Given the description of an element on the screen output the (x, y) to click on. 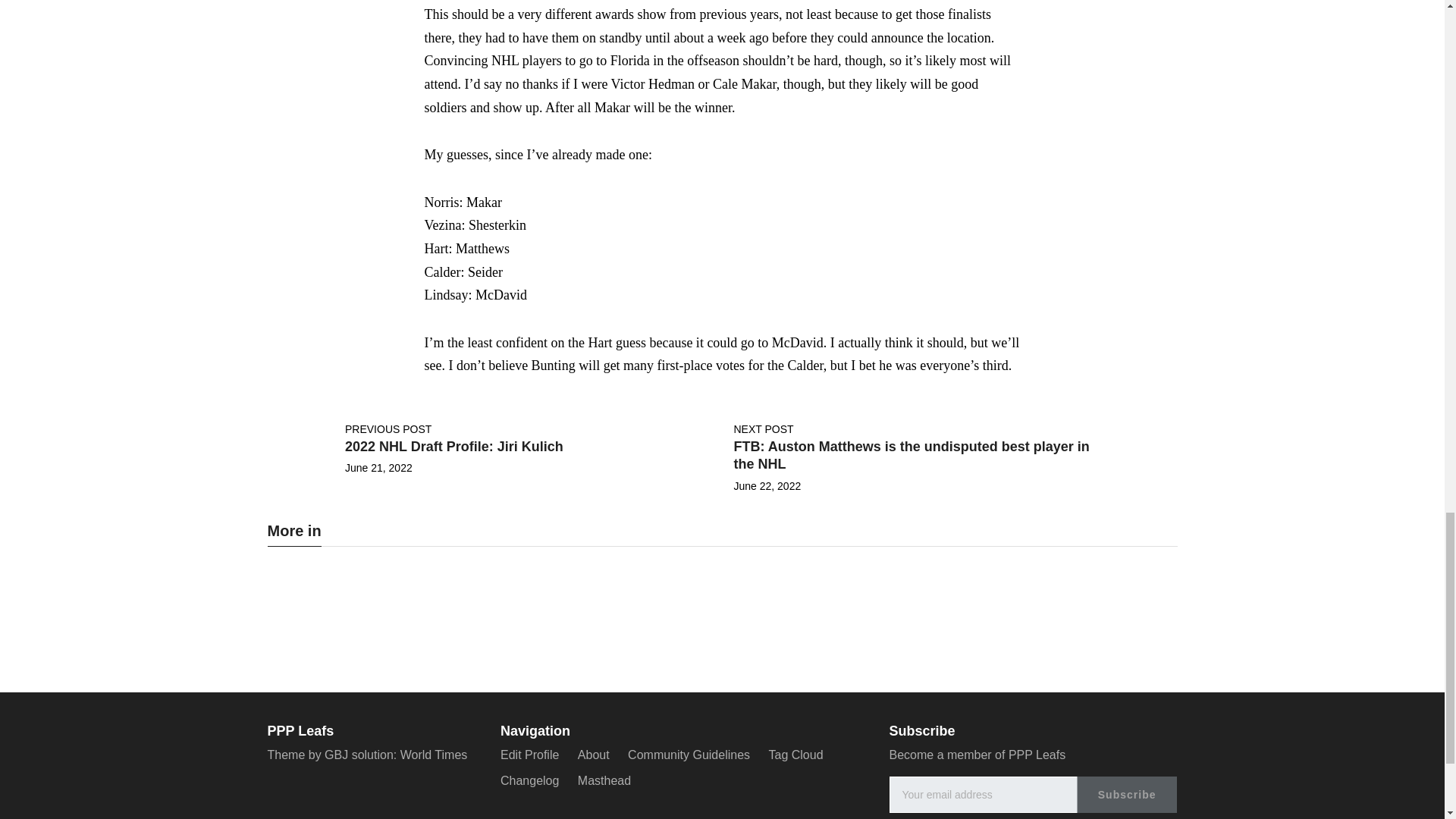
22 June, 2022 (766, 485)
21 June, 2022 (378, 467)
